Given the description of an element on the screen output the (x, y) to click on. 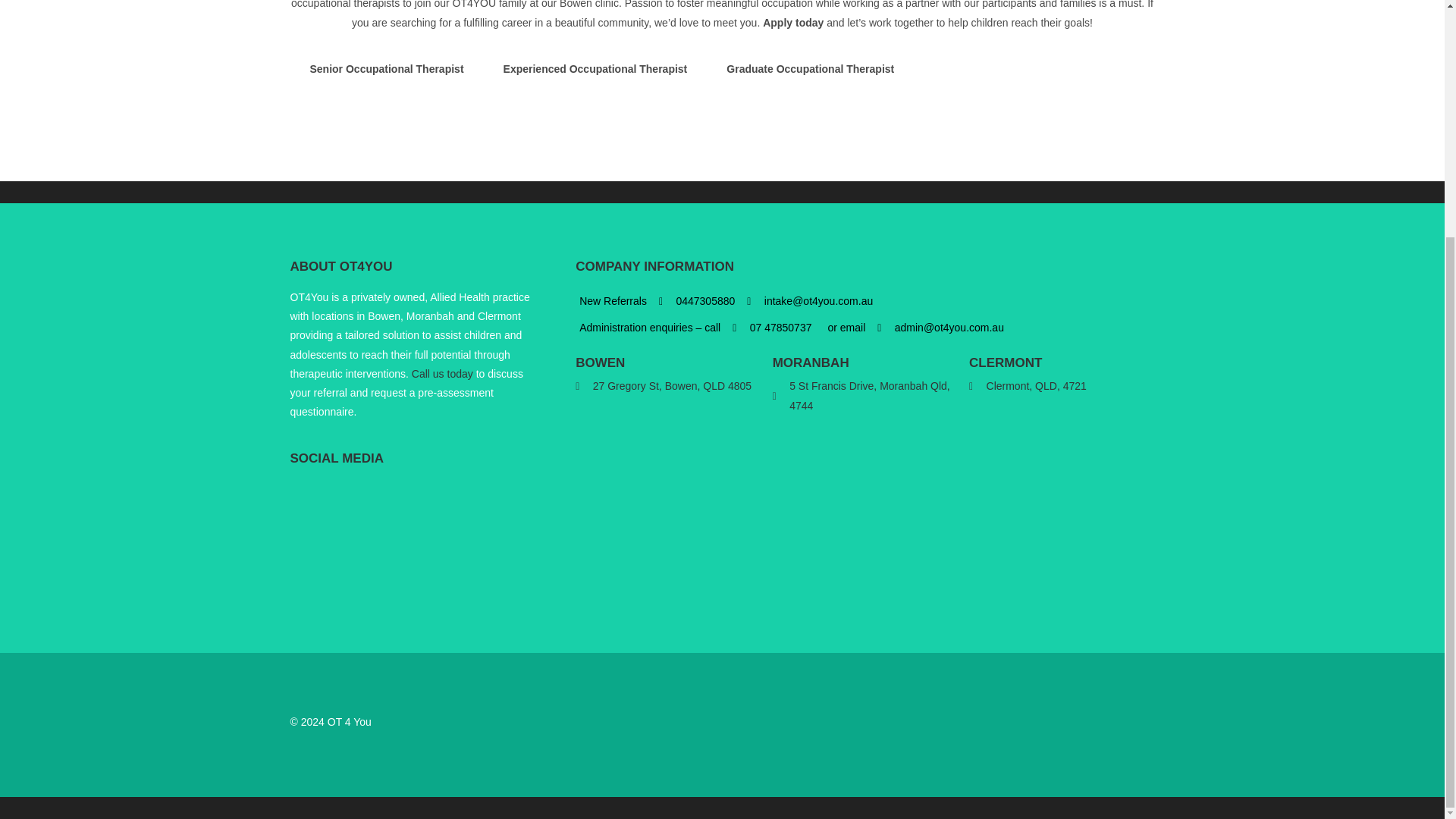
Find Us On Facebook (301, 495)
Clermont, QLD 4721 (1061, 512)
www.localsearch.com.au (332, 495)
27 Gregory St, Bowen, QLD 4805 (667, 491)
5 St Francis Drive, Moranbah Qld (865, 510)
Follow Us On Instagram (394, 495)
Find Us On LinkedIn (363, 495)
